Given the description of an element on the screen output the (x, y) to click on. 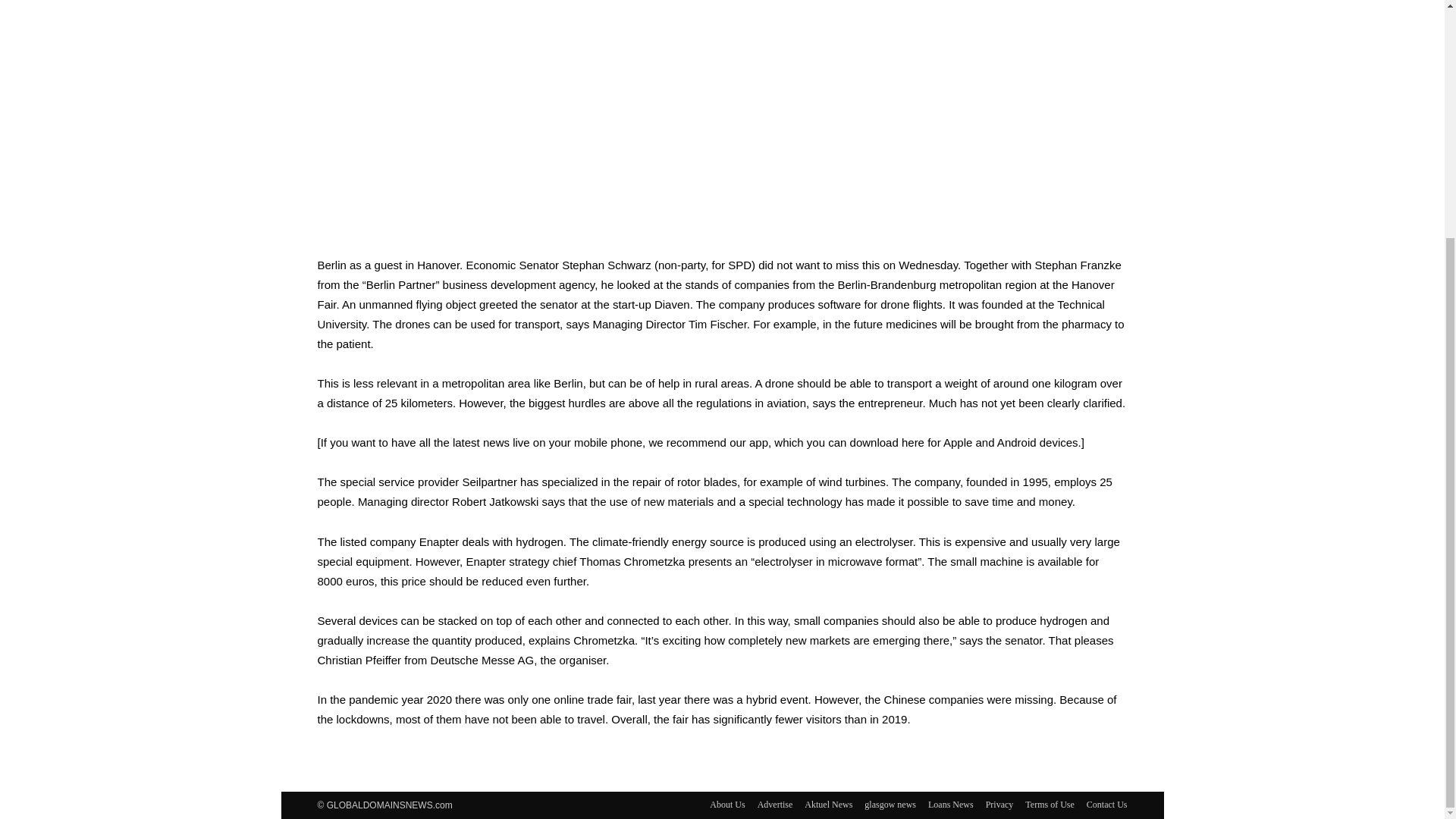
About Us (727, 804)
Terms of Use (1049, 804)
glasgow news (889, 804)
Advertise (775, 804)
Privacy (999, 804)
Aktuel News (828, 804)
Loans News (951, 804)
Contact Us (1106, 804)
